Given the description of an element on the screen output the (x, y) to click on. 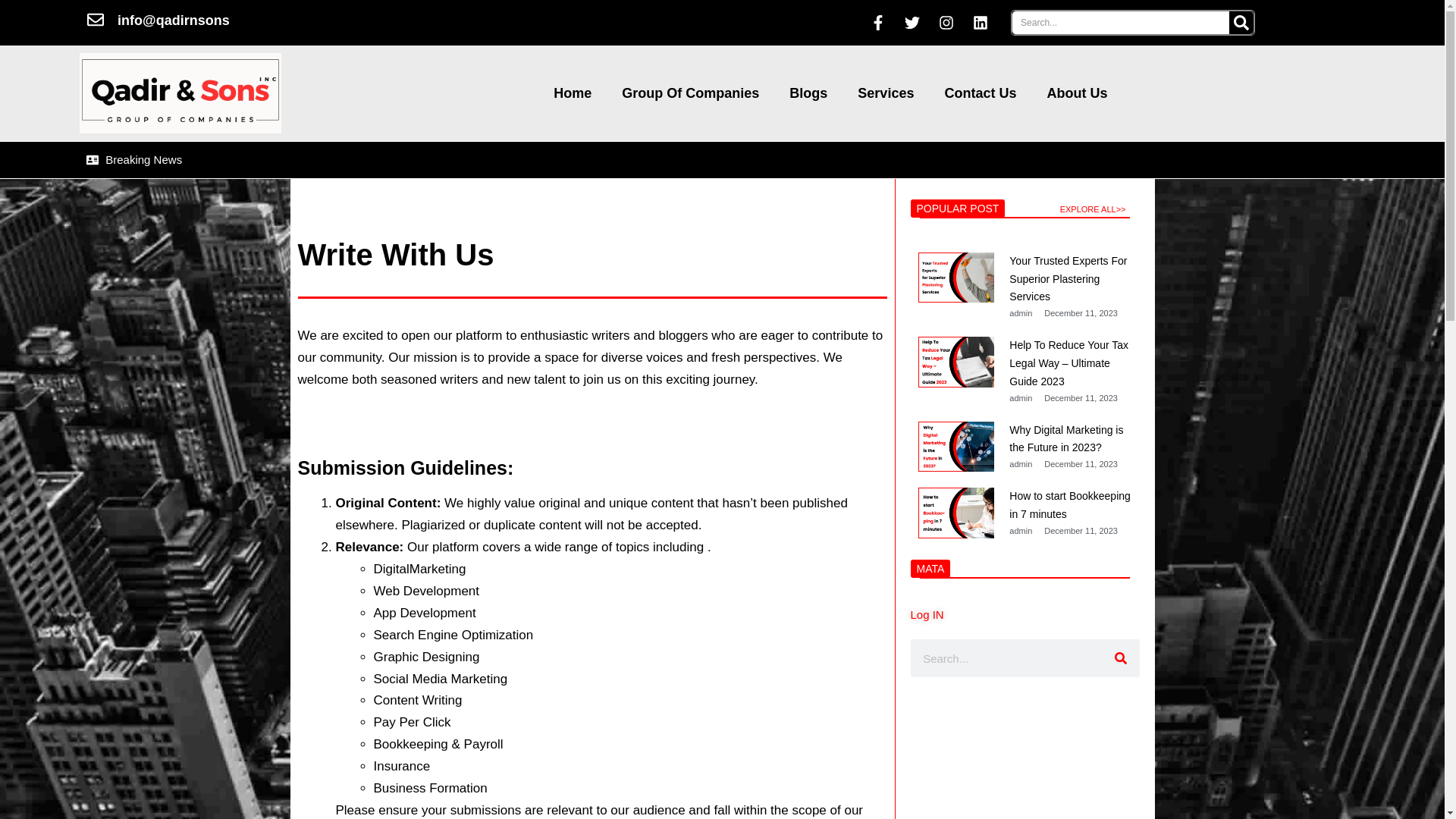
Contact Us (979, 93)
Home (572, 93)
Qns-INC-logo.jpg - Qadirnsons (180, 93)
About Us (1076, 93)
Services (885, 93)
Group Of Companies (690, 93)
Blogs (808, 93)
1 - Qadirnsons - Qadirnsons (955, 277)
23 - Qadirnsons - Qadirnsons (955, 446)
12 - Qadirnsons - Qadirnsons (955, 361)
